Given the description of an element on the screen output the (x, y) to click on. 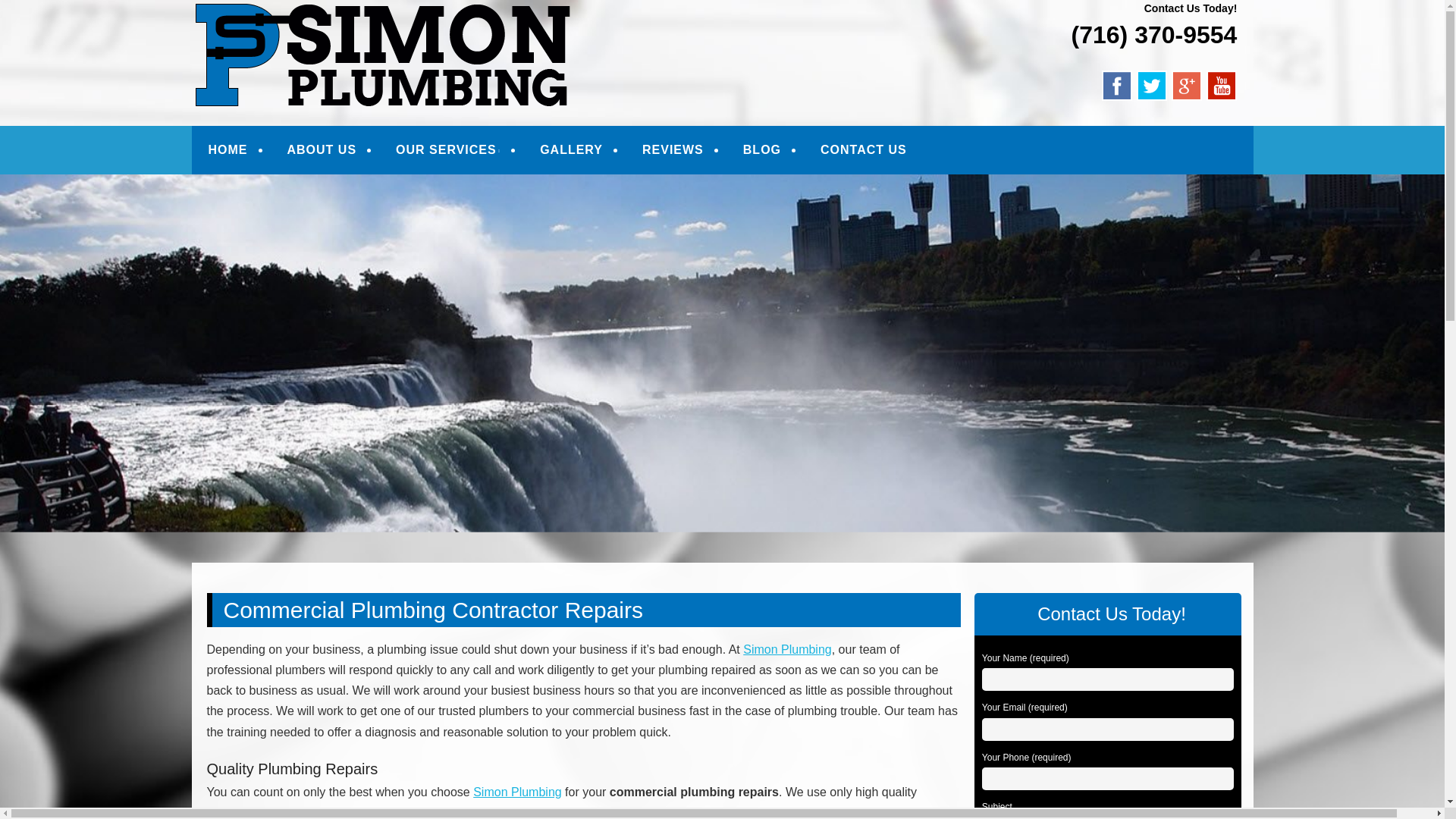
Simon Plumbing (786, 649)
GALLERY (571, 150)
REVIEWS (672, 150)
CONTACT US (863, 150)
SIMON PLUMBING (322, 32)
Simon Plumbing (322, 32)
ABOUT US (321, 150)
OUR SERVICES (448, 150)
BLOG (762, 150)
